Given the description of an element on the screen output the (x, y) to click on. 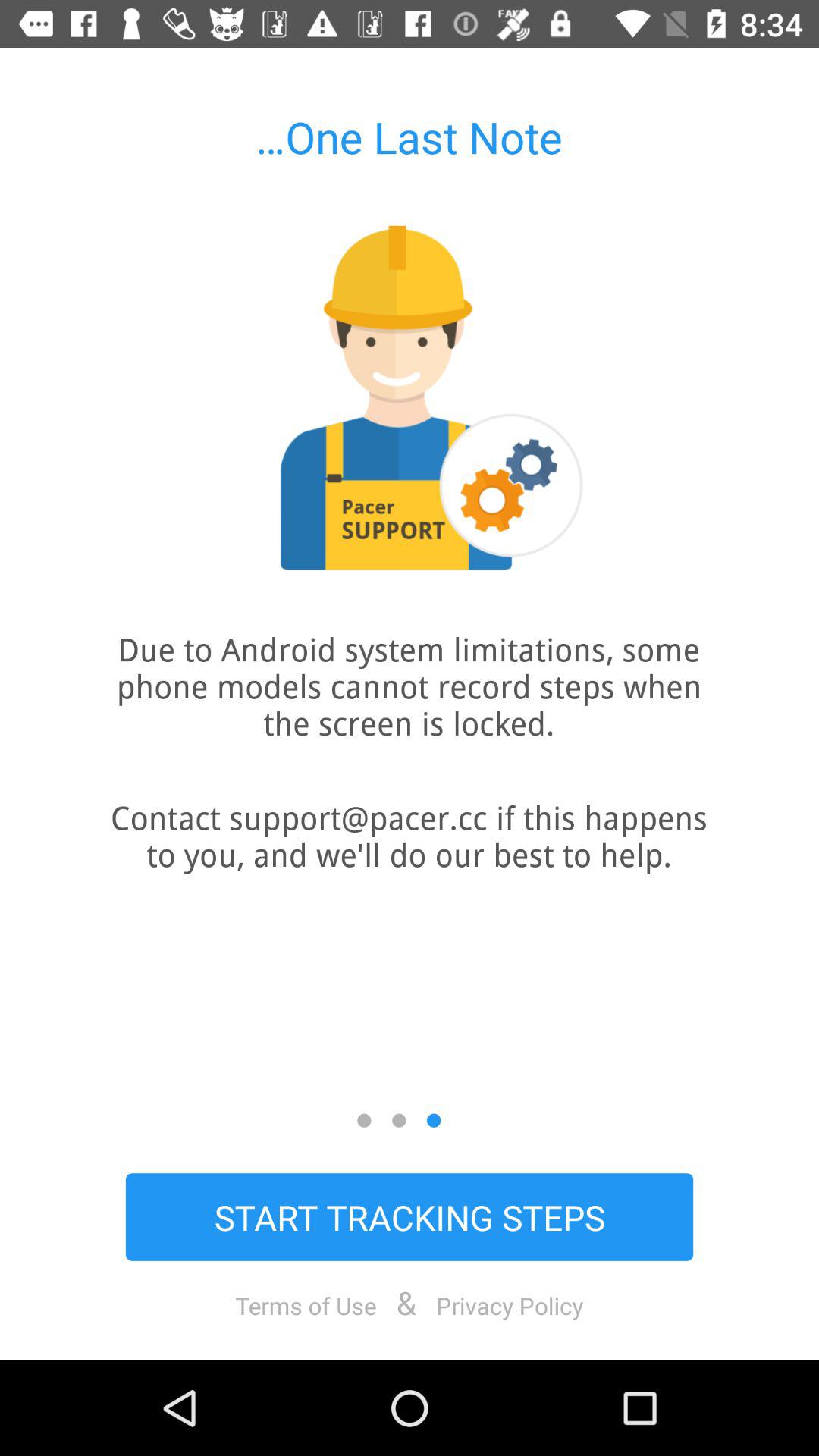
press the start tracking steps item (409, 1217)
